Given the description of an element on the screen output the (x, y) to click on. 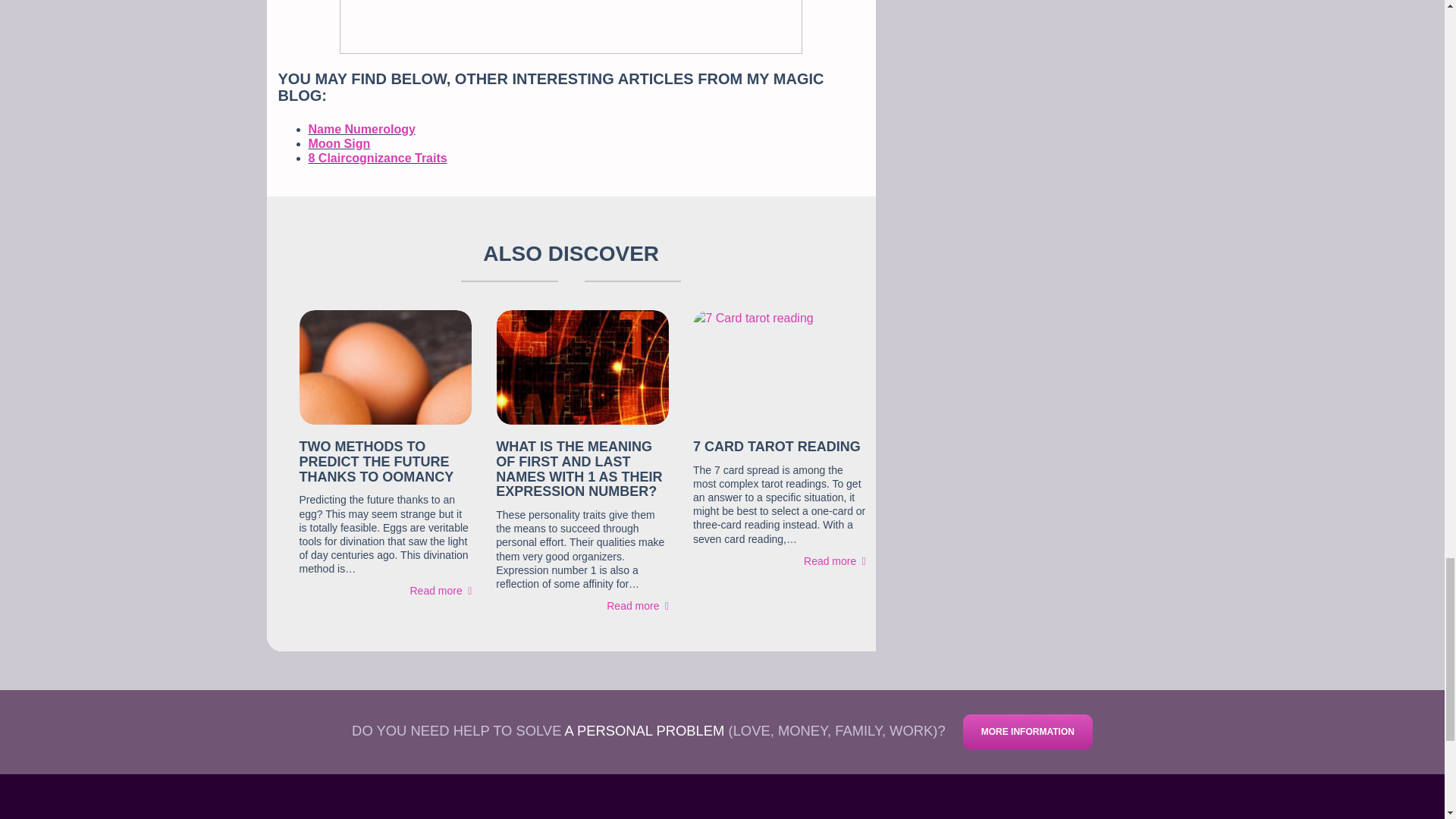
Two methods to predict the future thanks to Oomancy (440, 590)
Two methods to predict the future thanks to Oomancy (375, 461)
Two methods to predict the future thanks to Oomancy (384, 367)
Name Numerology (360, 128)
